Given the description of an element on the screen output the (x, y) to click on. 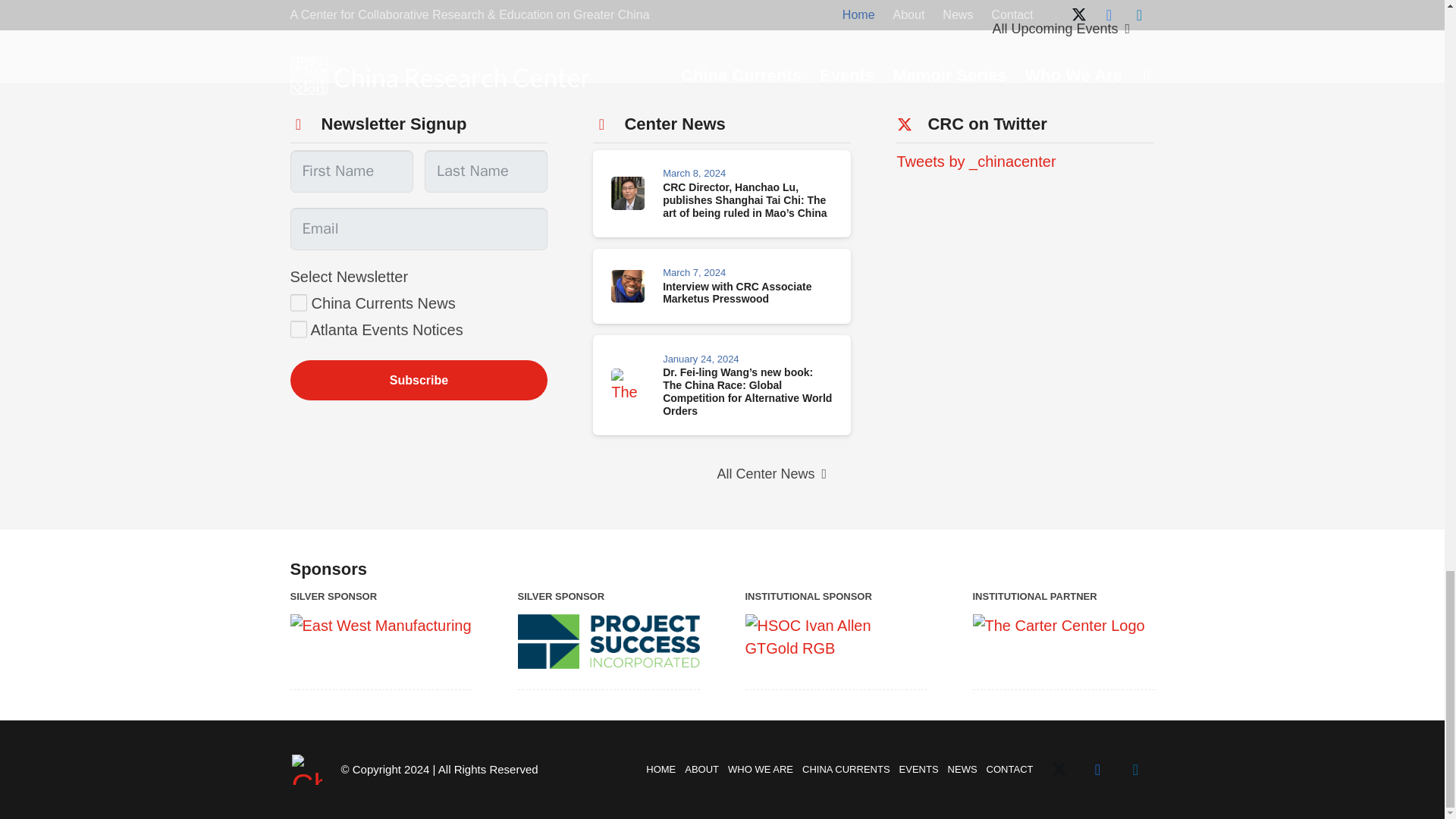
Atlanta Events Notices (298, 329)
News (771, 474)
China Currents News (298, 303)
Events (1061, 29)
Twitter (1059, 769)
LinkedIn (1135, 769)
Facebook (1097, 769)
